Given the description of an element on the screen output the (x, y) to click on. 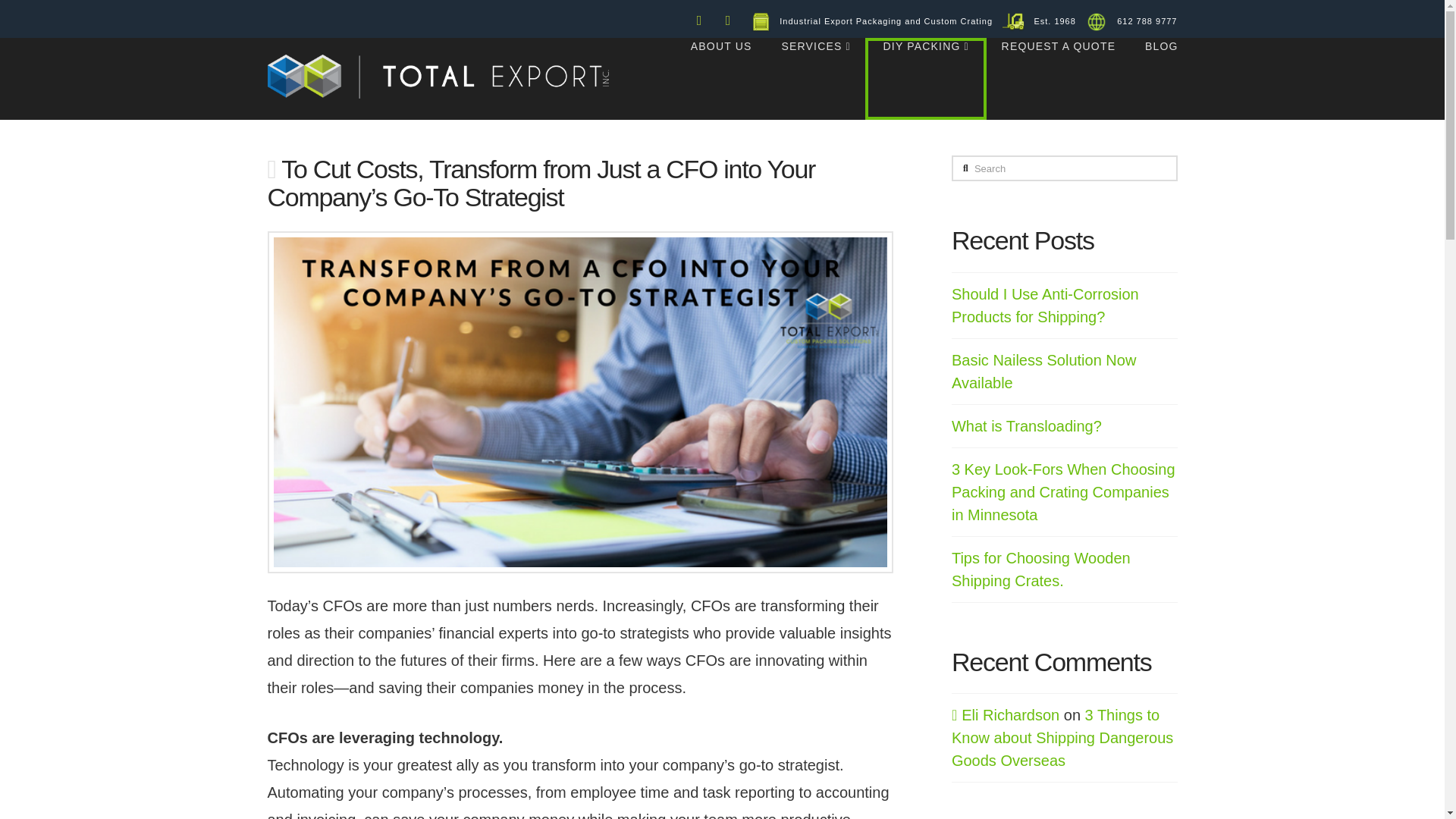
Eli Richardson (1005, 714)
Should I Use Anti-Corrosion Products for Shipping? (1045, 305)
Facebook (699, 20)
Tips for Choosing Wooden Shipping Crates. (1041, 568)
DIY PACKING (925, 78)
Basic Nailess Solution Now Available (1043, 371)
3 Things to Know about Shipping Dangerous Goods Overseas (1062, 737)
ABOUT US (721, 78)
SERVICES (814, 78)
LinkedIn (727, 20)
REQUEST A QUOTE (1058, 78)
What is Transloading? (1027, 425)
BLOG (1152, 78)
